Given the description of an element on the screen output the (x, y) to click on. 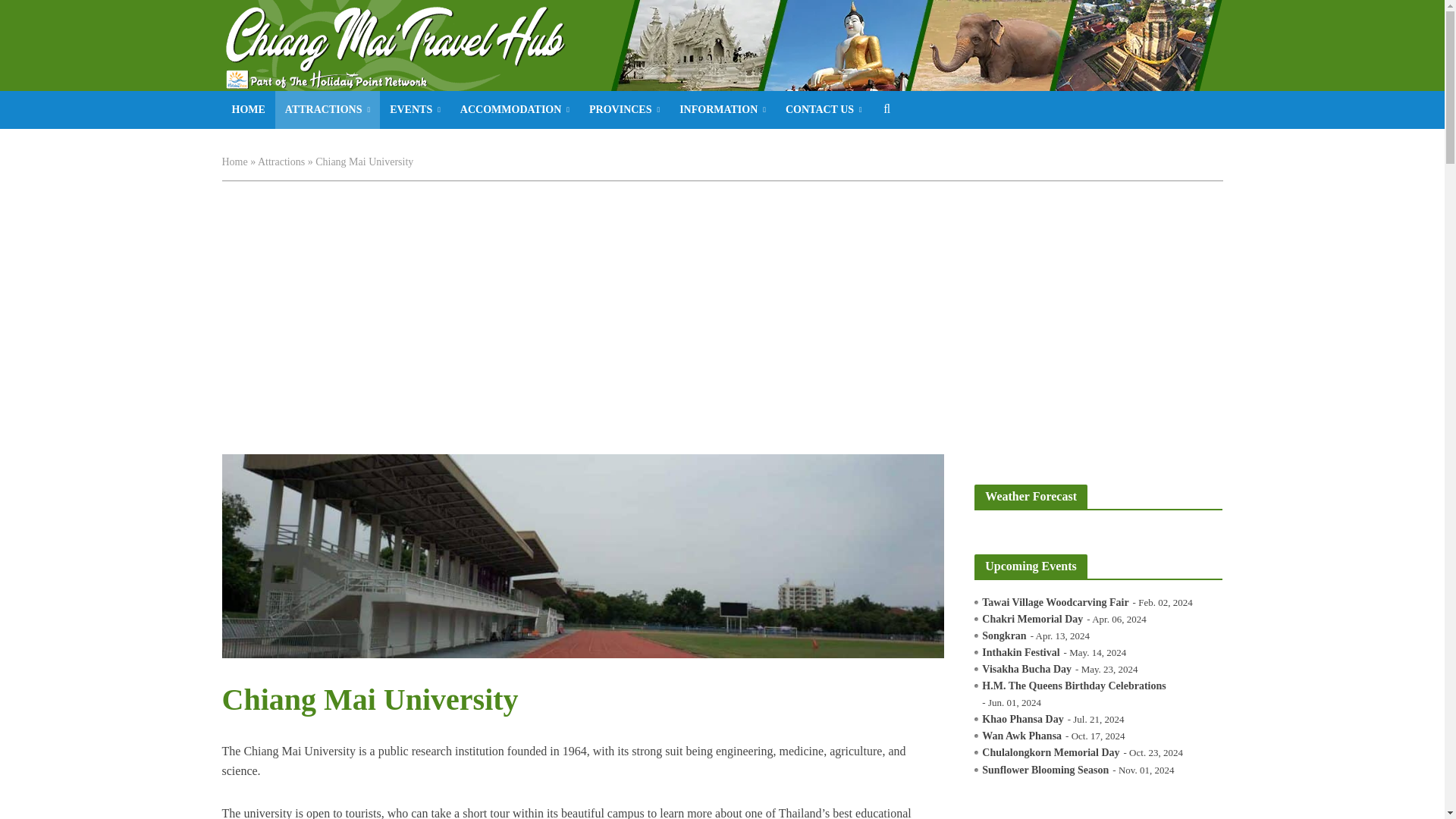
HOME (248, 109)
ATTRACTIONS (327, 109)
